Given the description of an element on the screen output the (x, y) to click on. 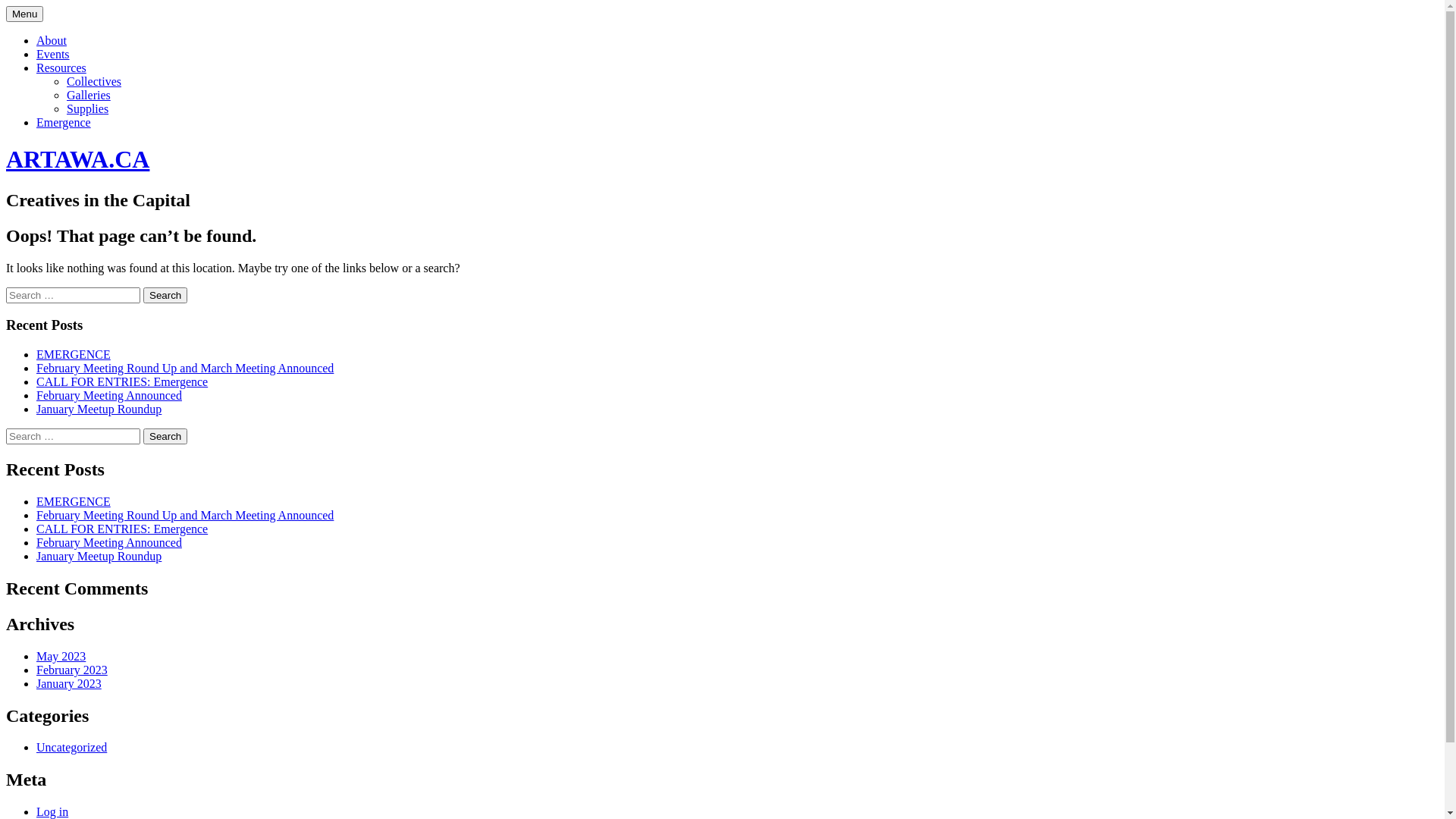
January 2023 Element type: text (68, 683)
CALL FOR ENTRIES: Emergence Element type: text (121, 528)
Log in Element type: text (52, 811)
About Element type: text (51, 40)
Resources Element type: text (61, 67)
Collectives Element type: text (93, 81)
Search Element type: text (165, 295)
Uncategorized Element type: text (71, 746)
February Meeting Round Up and March Meeting Announced Element type: text (184, 367)
February 2023 Element type: text (71, 669)
Events Element type: text (52, 53)
Menu Element type: text (24, 13)
May 2023 Element type: text (60, 655)
Supplies Element type: text (87, 108)
January Meetup Roundup Element type: text (98, 408)
Skip to content Element type: text (5, 5)
February Meeting Round Up and March Meeting Announced Element type: text (184, 514)
February Meeting Announced Element type: text (109, 542)
Galleries Element type: text (88, 94)
Emergence Element type: text (63, 122)
January Meetup Roundup Element type: text (98, 555)
ARTAWA.CA Element type: text (77, 158)
CALL FOR ENTRIES: Emergence Element type: text (121, 381)
February Meeting Announced Element type: text (109, 395)
Search Element type: text (165, 436)
EMERGENCE Element type: text (73, 501)
EMERGENCE Element type: text (73, 354)
